Given the description of an element on the screen output the (x, y) to click on. 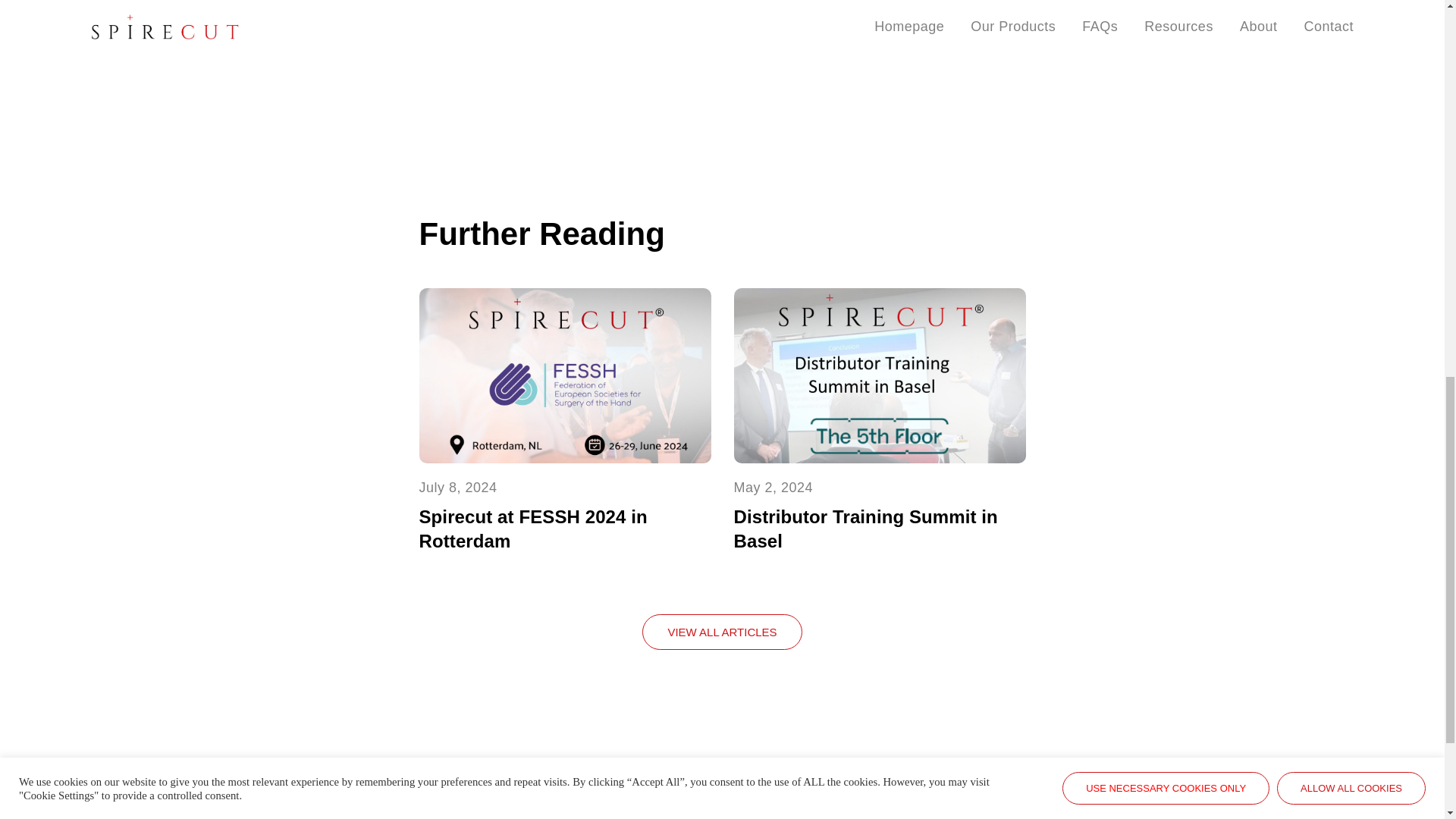
May 2, 2024 (773, 487)
Spirecut at FESSH 2024 in Rotterdam (532, 528)
Distributor Training Summit in Basel (865, 528)
VIEW ALL ARTICLES (722, 632)
here (511, 36)
July 8, 2024 (457, 487)
